Given the description of an element on the screen output the (x, y) to click on. 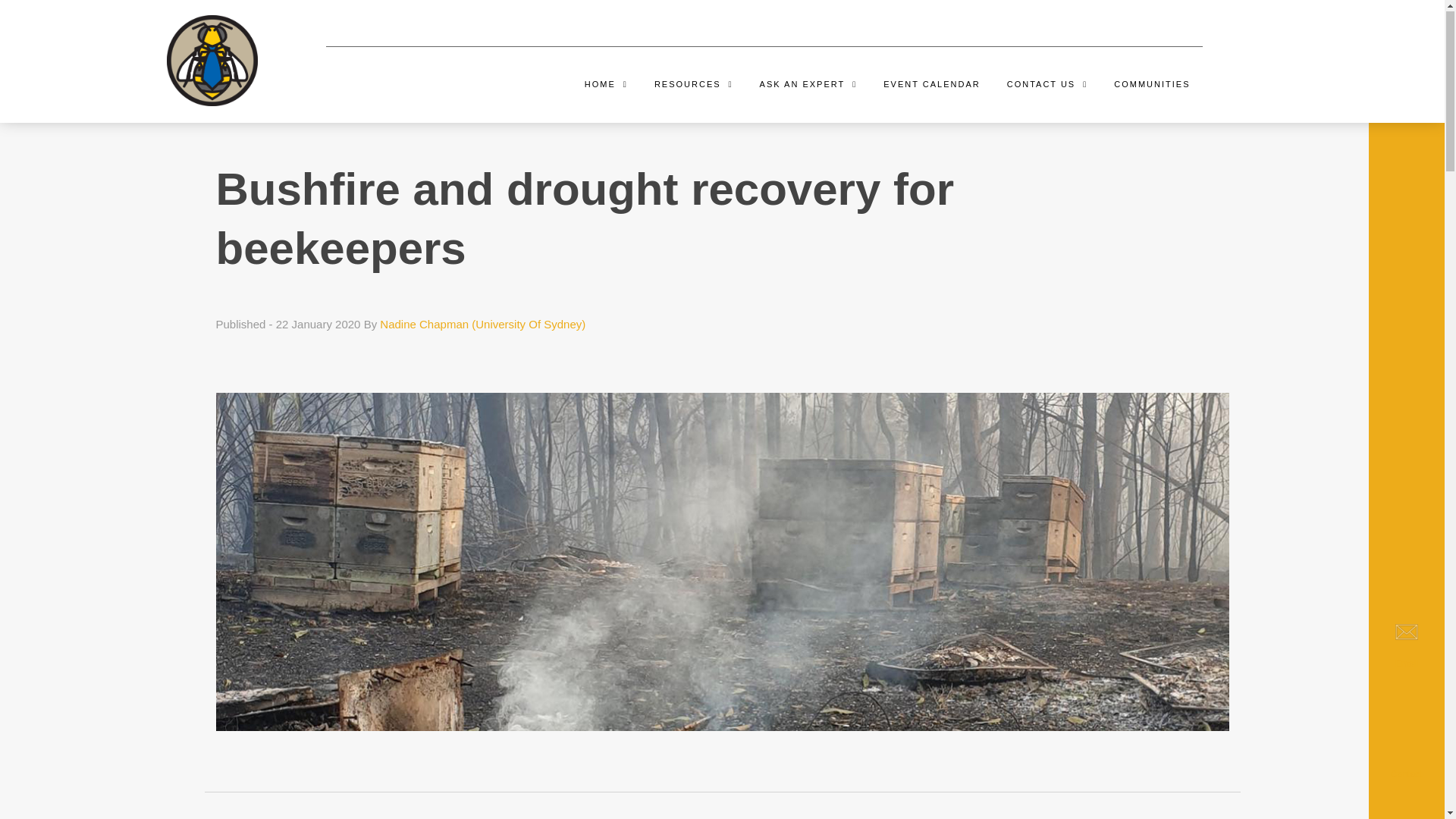
Contact Element type: text (1406, 745)
RESOURCES Element type: text (693, 85)
CONTACT US Element type: text (1047, 85)
Professional Beekeepers Element type: hover (211, 59)
ASK AN EXPERT Element type: text (808, 85)
Email Element type: text (1406, 648)
EVENT CALENDAR Element type: text (931, 85)
COMMUNITIES Element type: text (1151, 85)
HOME Element type: text (606, 85)
